Given the description of an element on the screen output the (x, y) to click on. 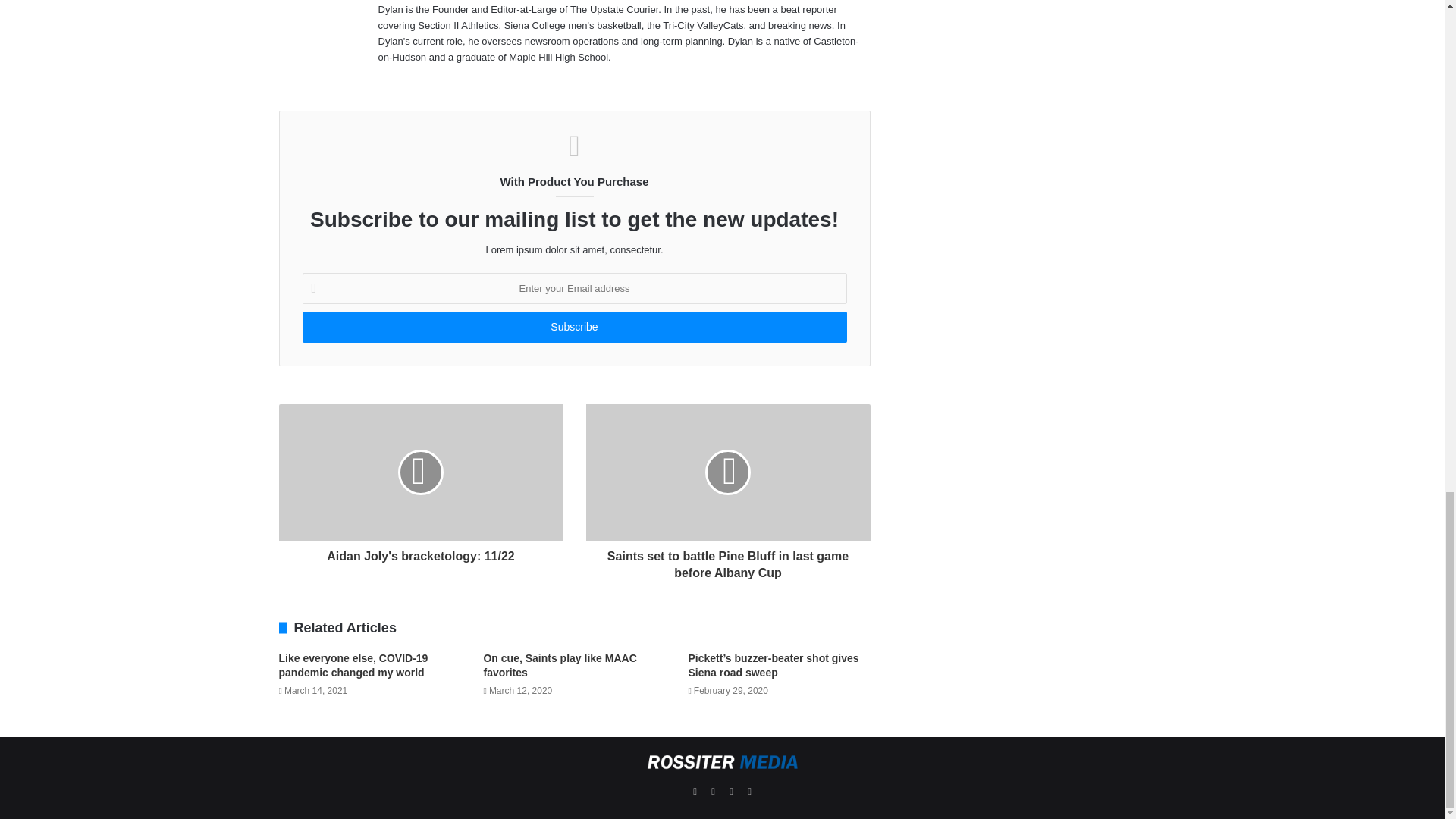
Subscribe (573, 327)
